Given the description of an element on the screen output the (x, y) to click on. 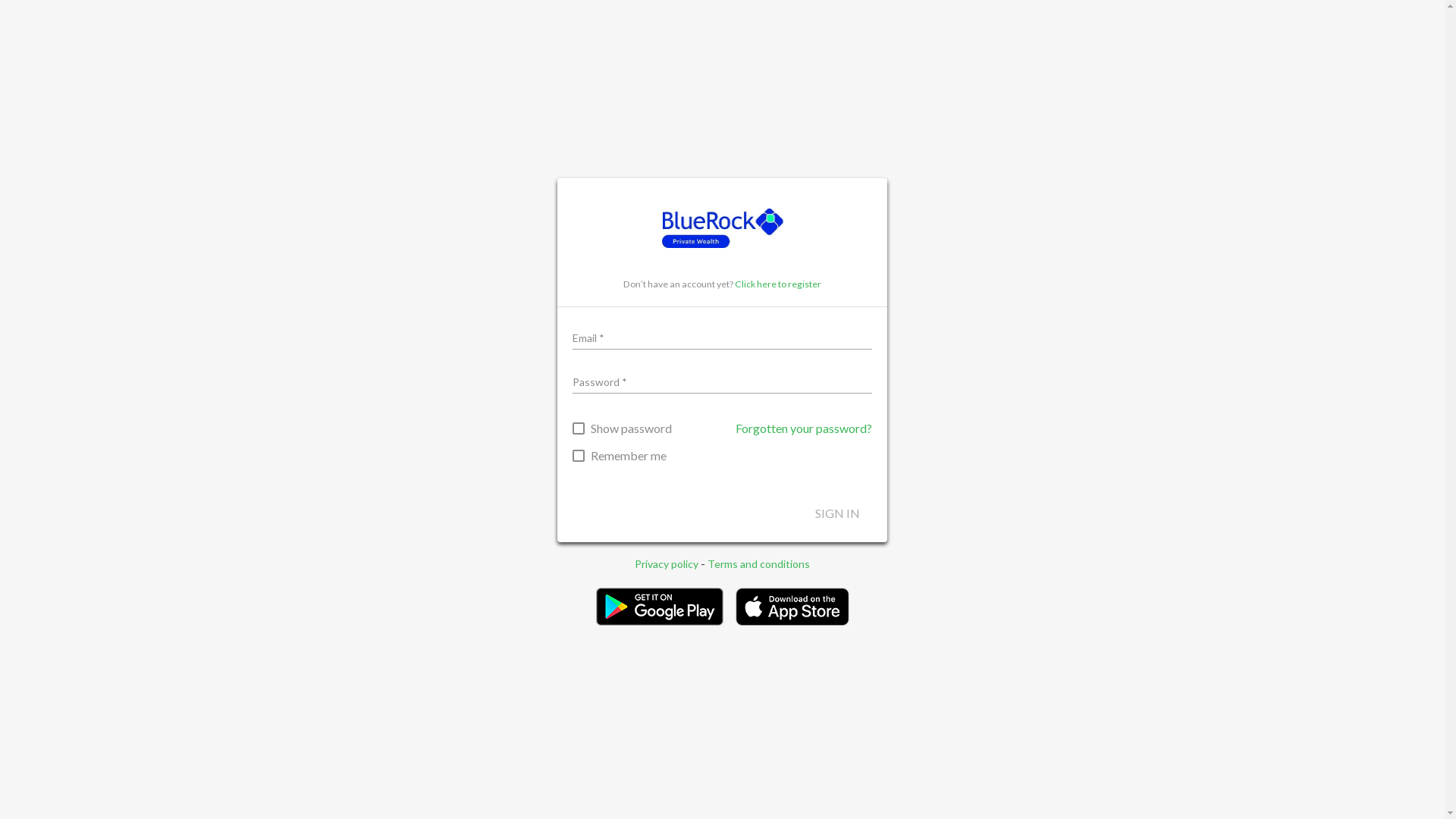
Terms and conditions Element type: text (758, 562)
Forgotten your password? Element type: text (803, 427)
Privacy policy Element type: text (666, 562)
SIGN IN Element type: text (837, 512)
Click here to register Element type: text (777, 283)
